Given the description of an element on the screen output the (x, y) to click on. 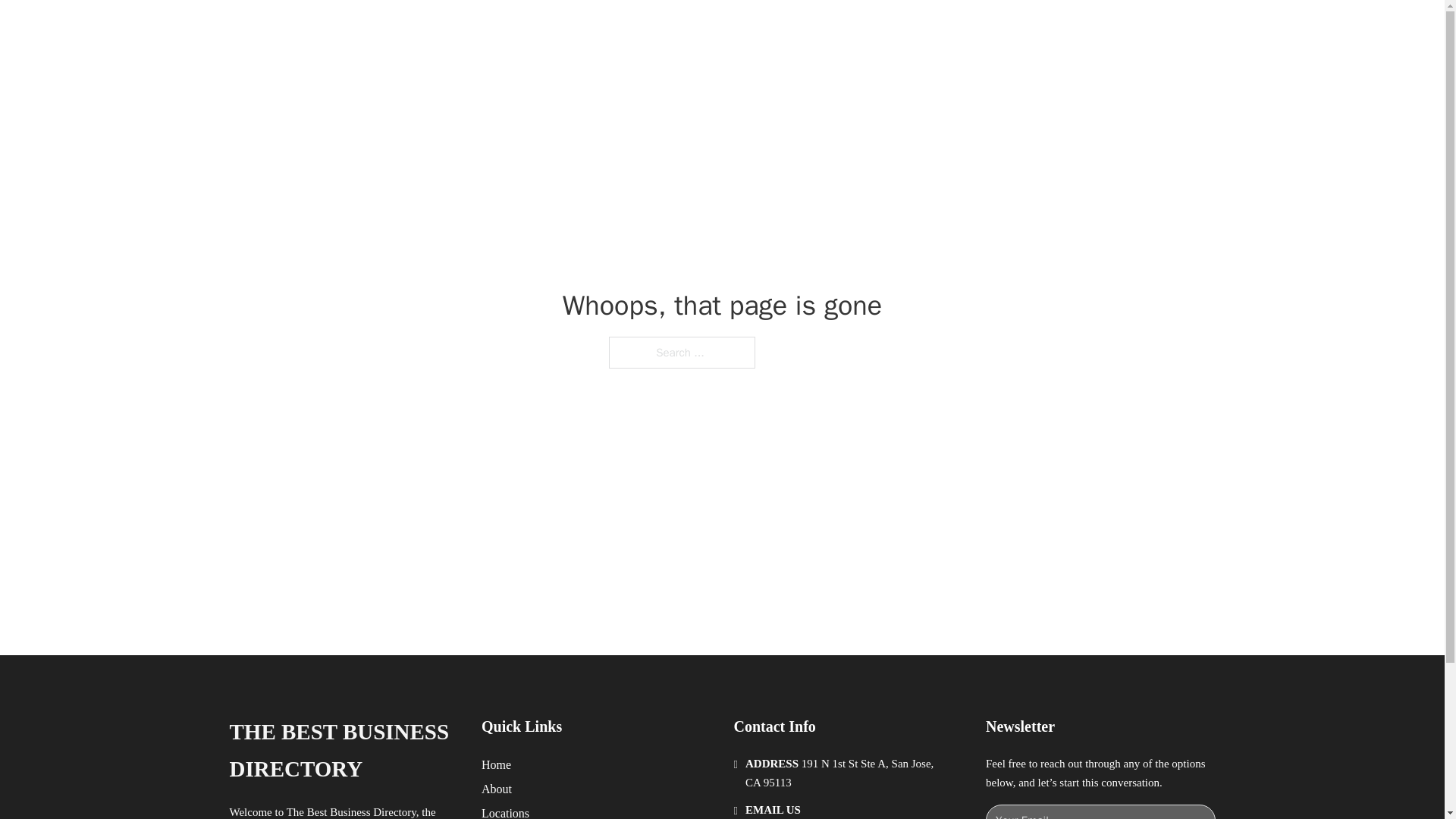
LOCATIONS (990, 29)
Locations (505, 811)
THE BEST BUSINESS DIRECTORY (468, 28)
THE BEST BUSINESS DIRECTORY (343, 750)
Home (496, 764)
About (496, 788)
HOME (919, 29)
